Given the description of an element on the screen output the (x, y) to click on. 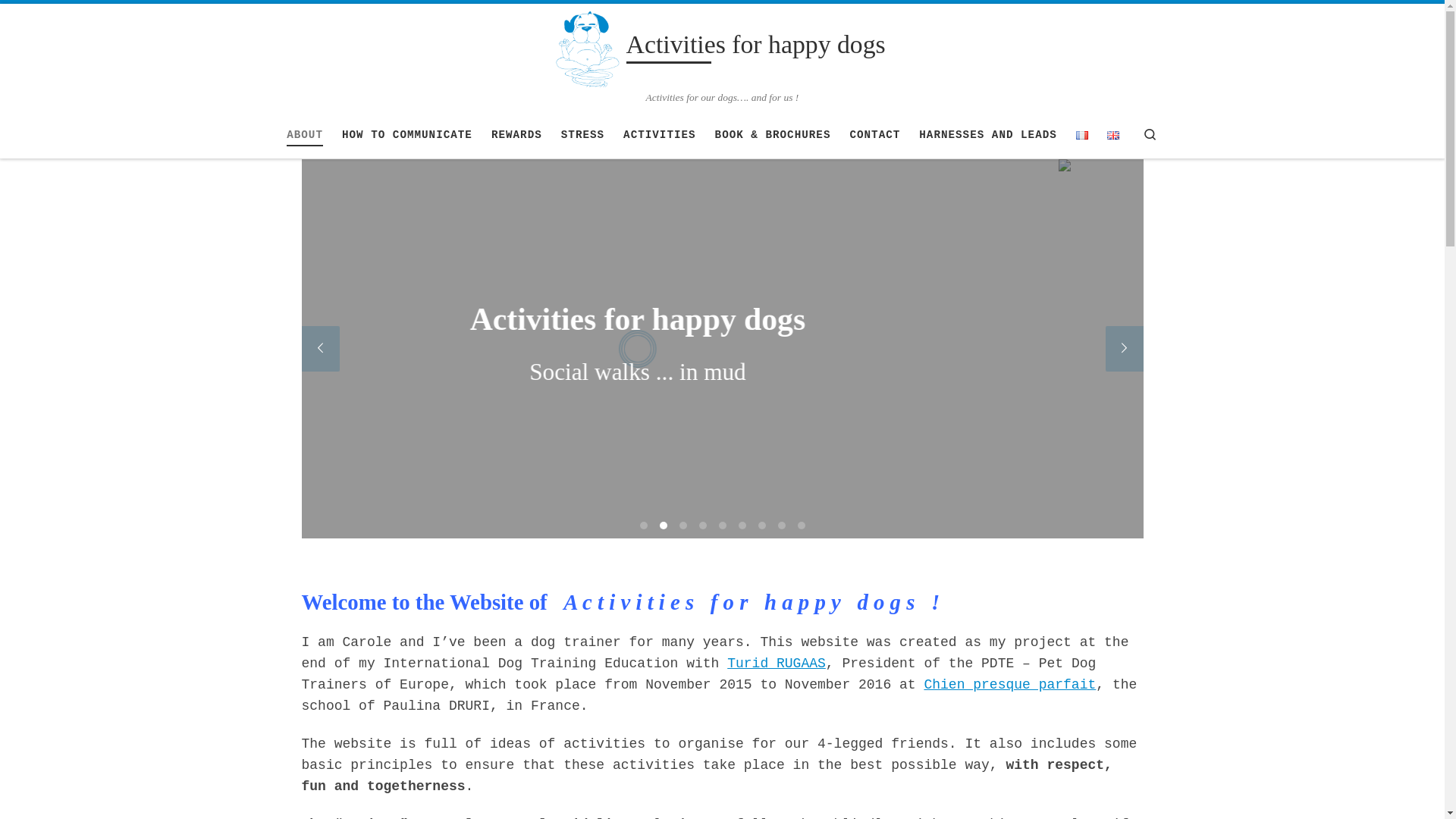
Search Element type: text (1149, 135)
STRESS Element type: text (582, 134)
CONTACT Element type: text (874, 134)
HARNESSES AND LEADS Element type: text (987, 134)
ABOUT Element type: text (304, 134)
Turid RUGAAS Element type: text (776, 663)
BOOK & BROCHURES Element type: text (771, 134)
ACTIVITIES Element type: text (659, 134)
Skip to content Element type: text (71, 20)
HOW TO COMMUNICATE Element type: text (406, 134)
Chien presque parfait Element type: text (1009, 684)
Activities for happy dogs Element type: text (755, 47)
REWARDS Element type: text (516, 134)
